Given the description of an element on the screen output the (x, y) to click on. 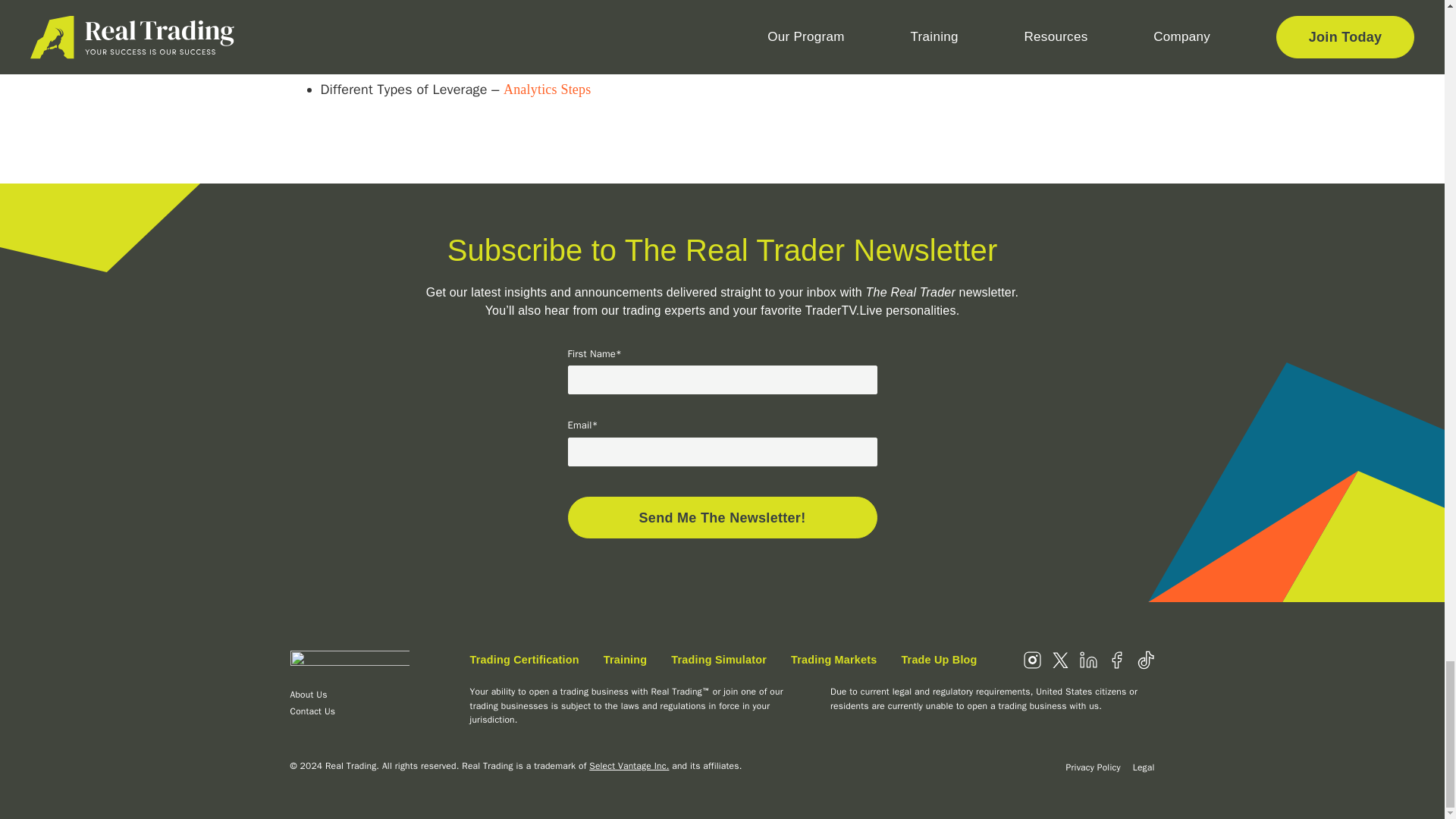
Send Me The Newsletter! (721, 517)
